Given the description of an element on the screen output the (x, y) to click on. 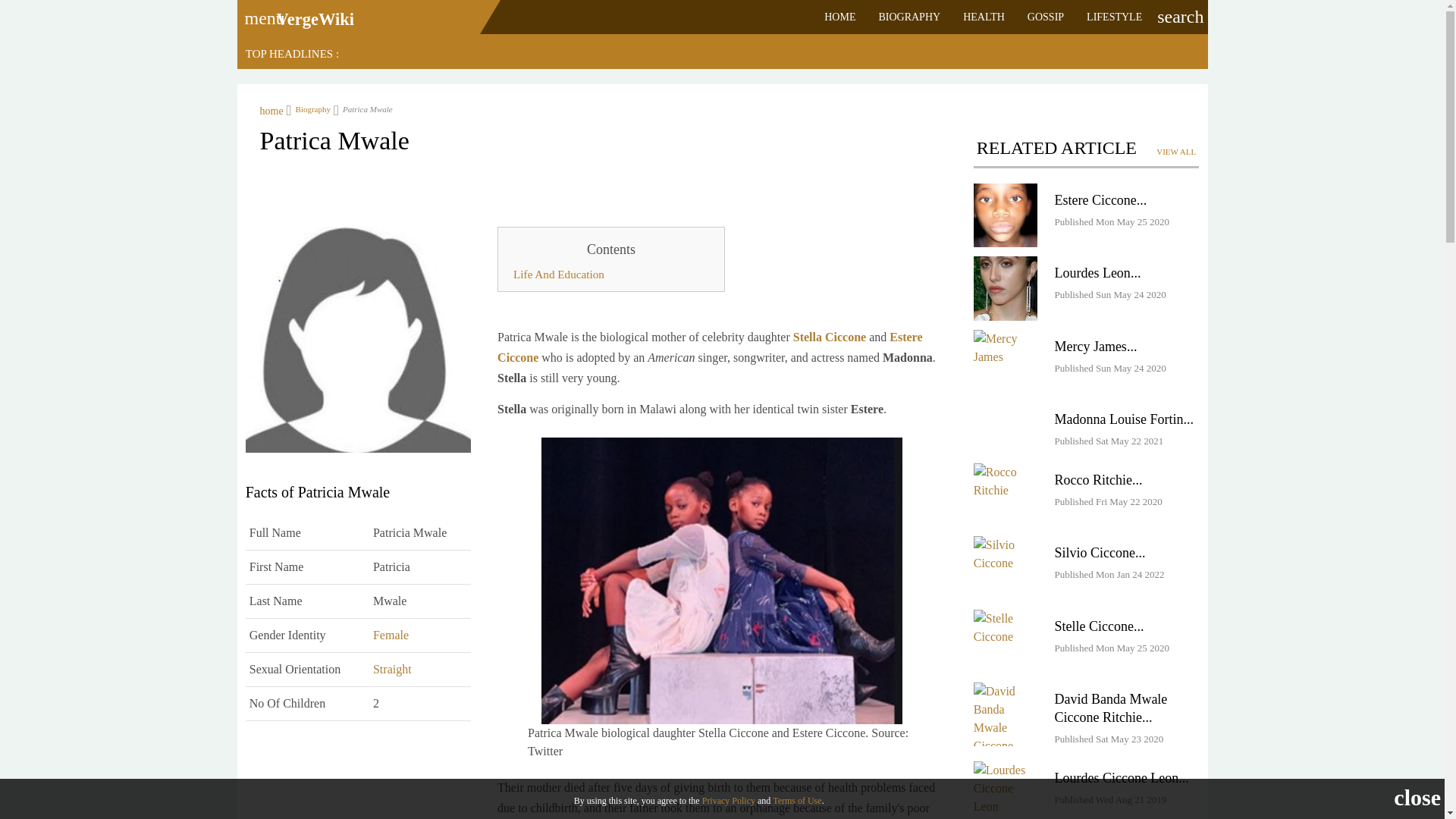
GOSSIP (1045, 17)
Madonna Louise Fortin  (1118, 418)
Rocco Ritchie (1005, 481)
Mercy James  (1005, 361)
Silvio Ciccone (1094, 552)
Rocco Ritchie (1005, 495)
Estere Ciccone  (1005, 215)
HOME (839, 17)
Mercy James  (1089, 346)
Lourdes Leon (1091, 272)
Silvio Ciccone (1005, 554)
Straight (392, 668)
Stelle Ciccone (1005, 641)
Stelle Ciccone (1005, 627)
menu (259, 13)
